Given the description of an element on the screen output the (x, y) to click on. 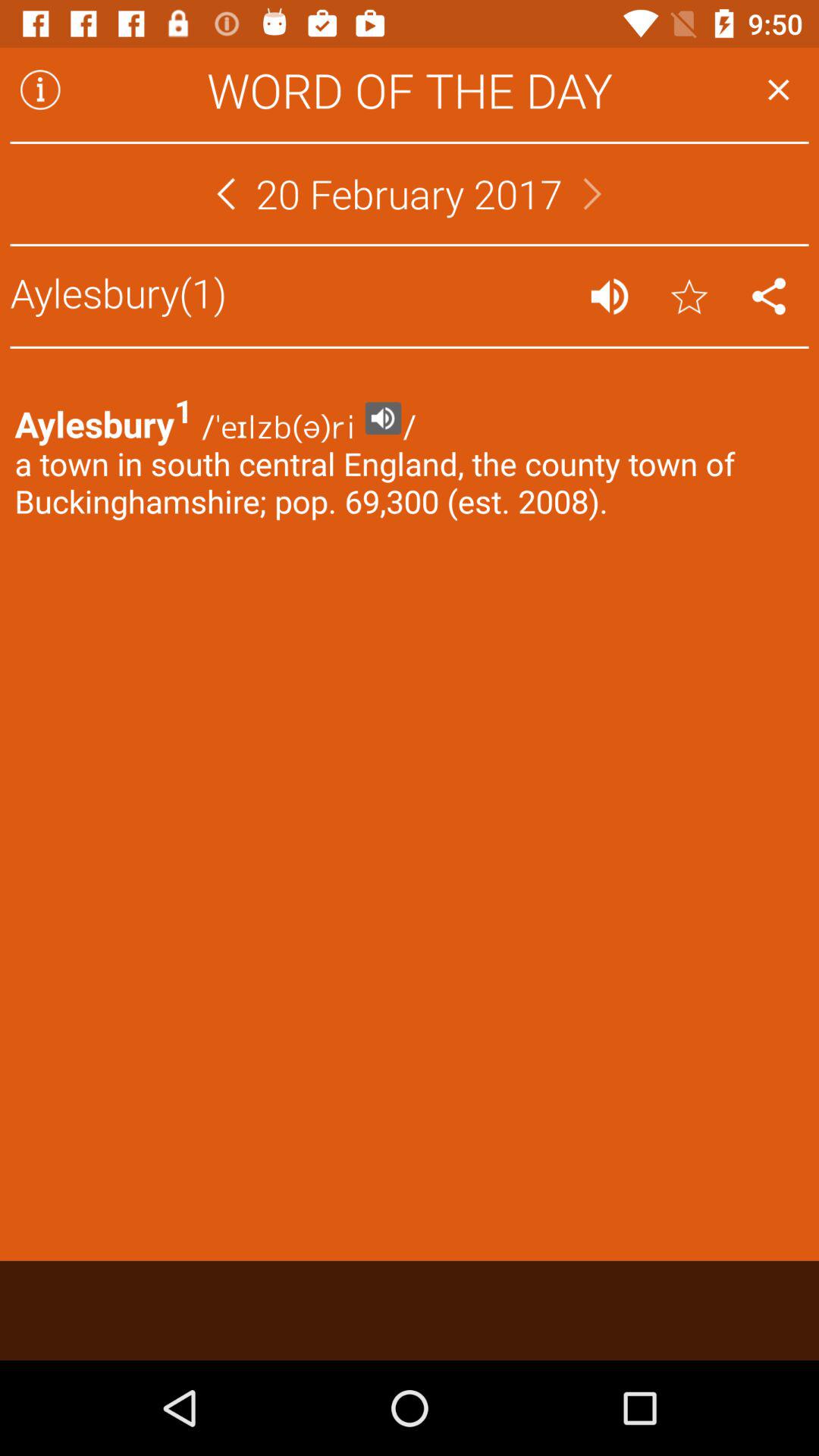
click app next to the word of the app (40, 89)
